Given the description of an element on the screen output the (x, y) to click on. 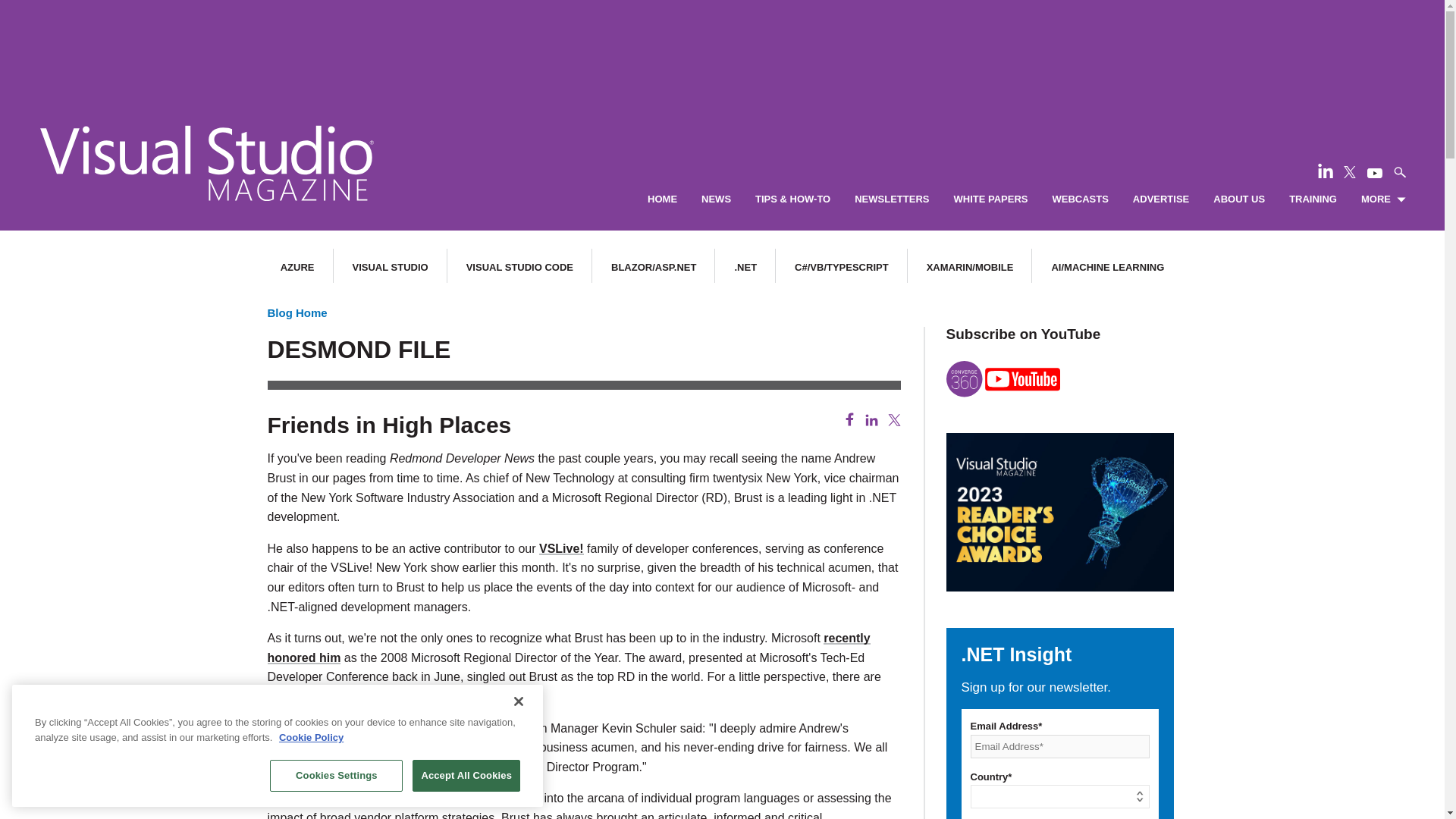
ADVERTISE (1160, 199)
VISUAL STUDIO (390, 266)
AZURE (297, 266)
NEWSLETTERS (891, 199)
NEWS (715, 199)
MORE (1383, 199)
WHITE PAPERS (990, 199)
.NET (745, 266)
TRAINING (1312, 199)
HOME (662, 199)
VISUAL STUDIO CODE (519, 266)
WEBCASTS (1079, 199)
3rd party ad content (721, 45)
ABOUT US (1238, 199)
